Given the description of an element on the screen output the (x, y) to click on. 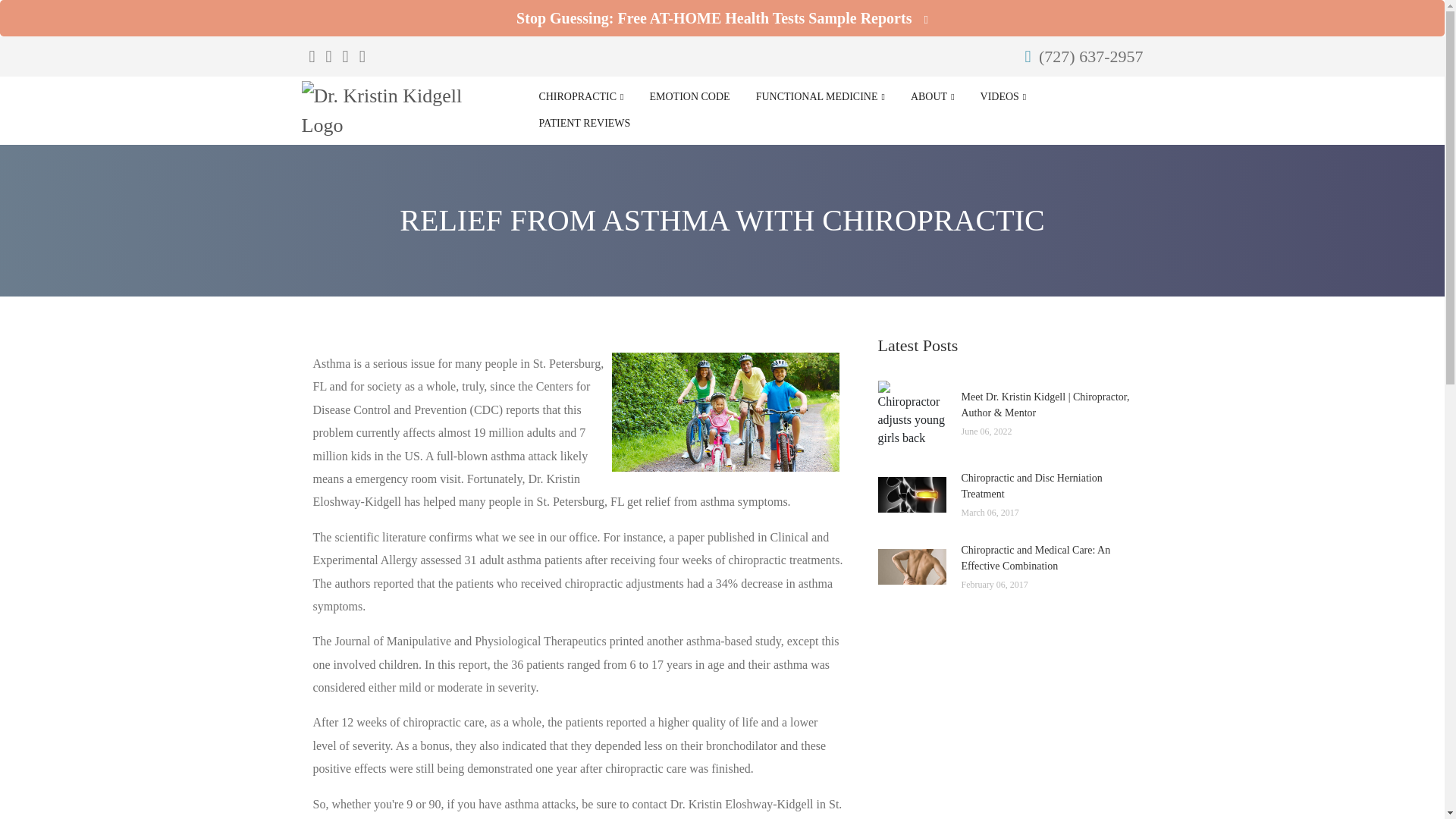
EMOTION CODE (689, 97)
FUNCTIONAL MEDICINE (820, 97)
CHIROPRACTIC (580, 97)
